Given the description of an element on the screen output the (x, y) to click on. 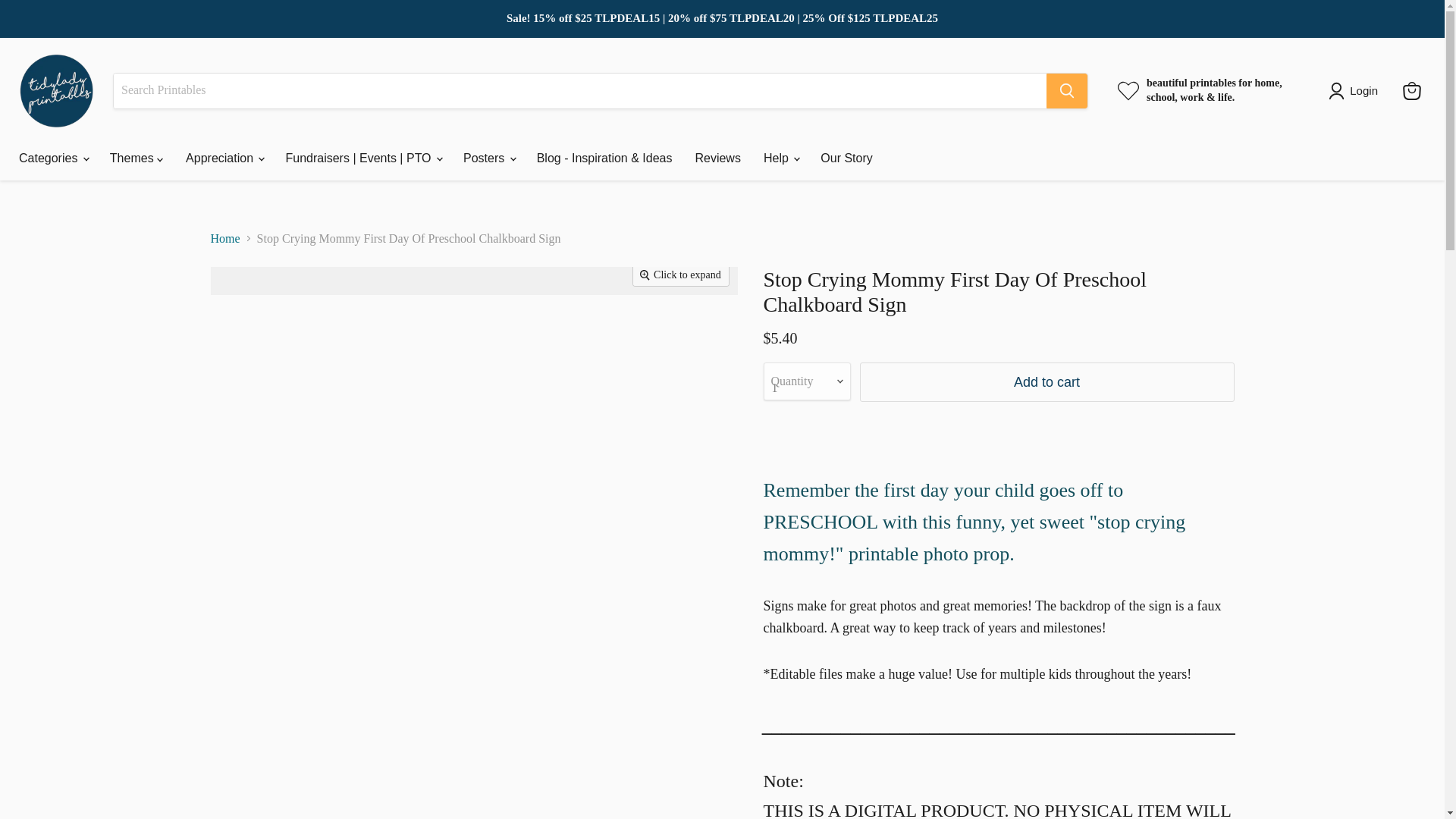
View cart (1411, 90)
Login (1355, 90)
